Given the description of an element on the screen output the (x, y) to click on. 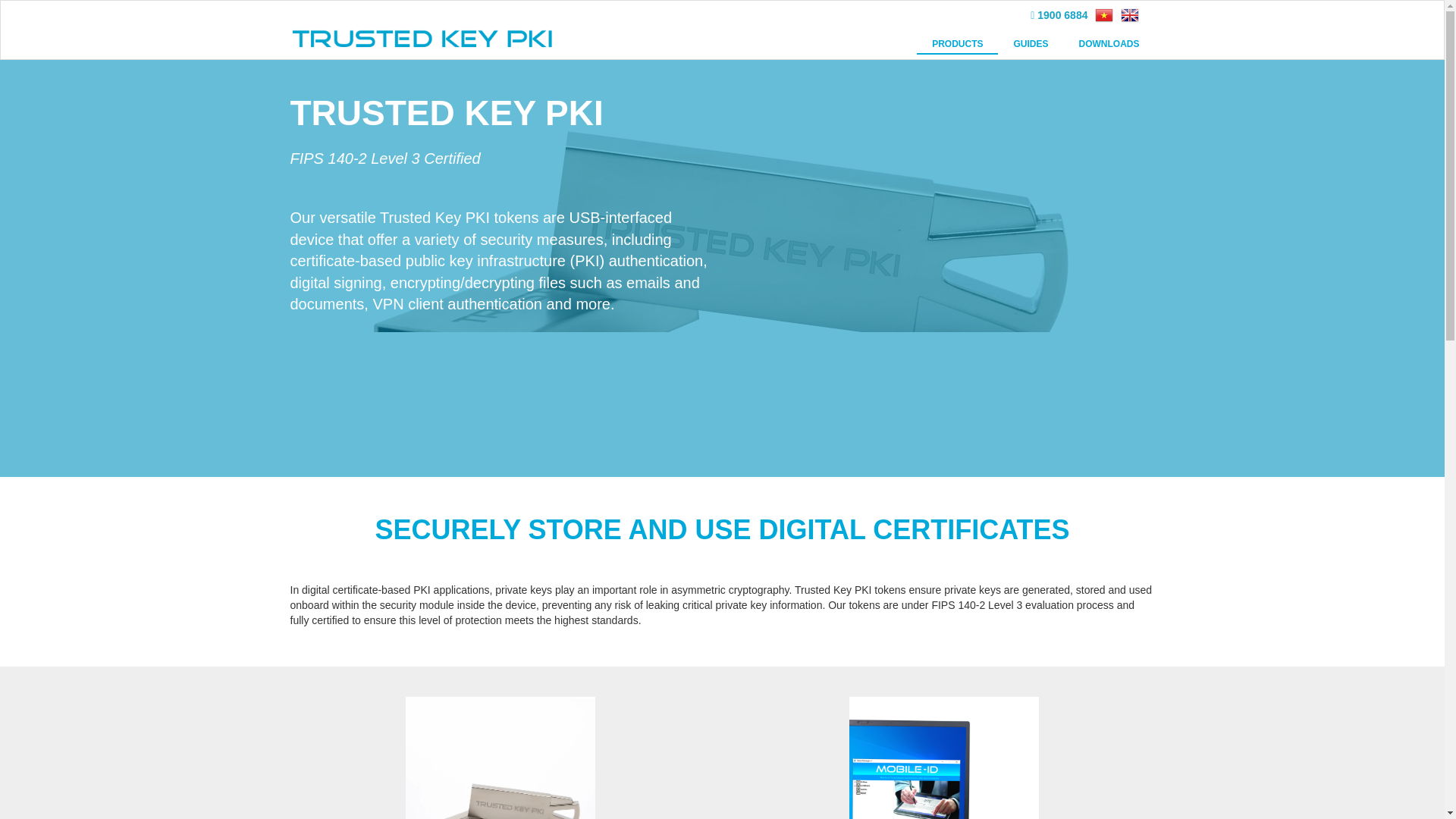
DOWNLOADS (1108, 44)
PRODUCTS (957, 44)
GUIDES (1029, 44)
